Given the description of an element on the screen output the (x, y) to click on. 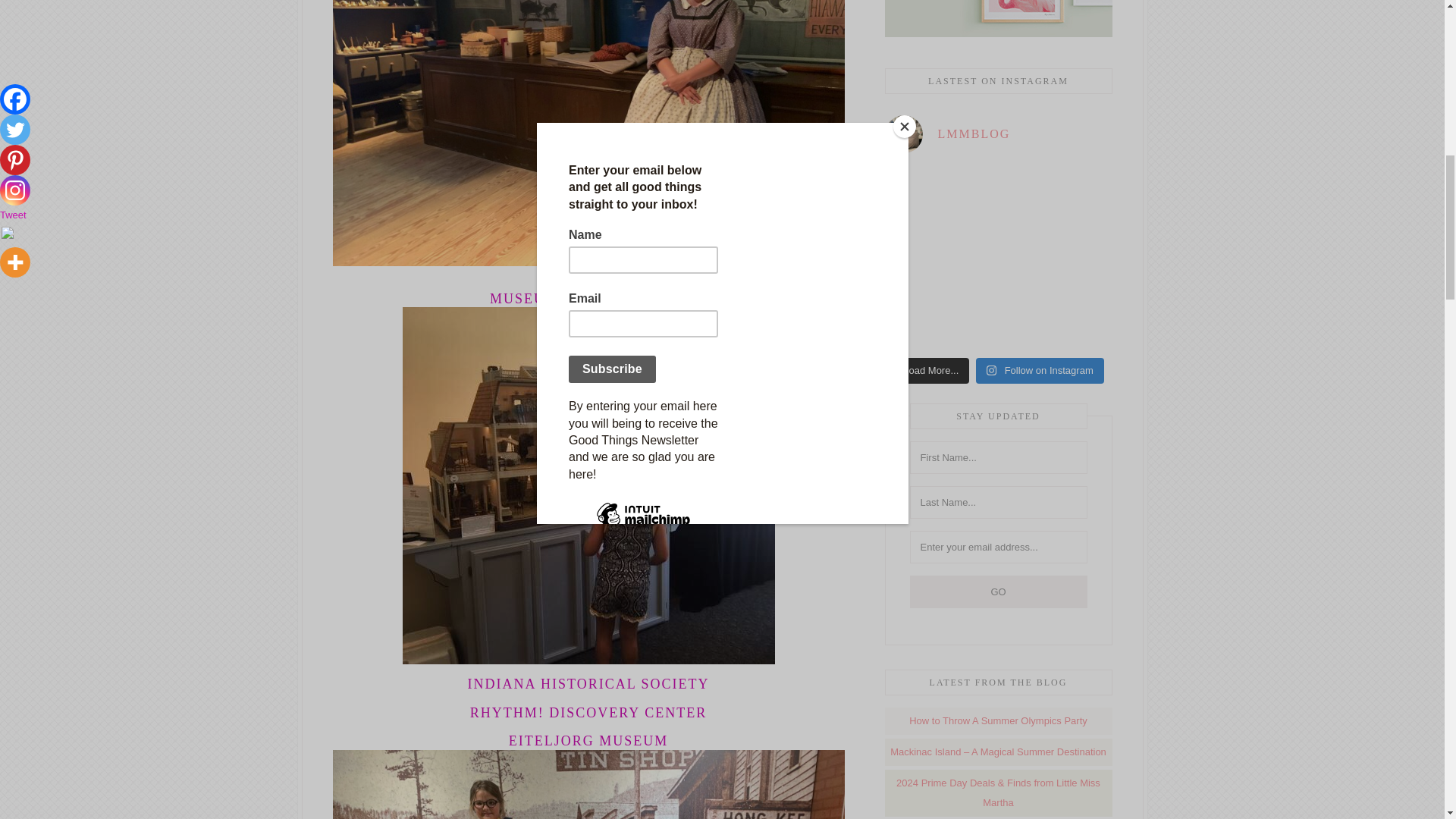
Go (998, 591)
EITELJORG MUSEUM (588, 740)
MUSEUM OF MINIATURES (588, 298)
RHYTHM! DISCOVERY CENTER (588, 712)
INDIANA HISTORICAL SOCIETY (588, 683)
